Given the description of an element on the screen output the (x, y) to click on. 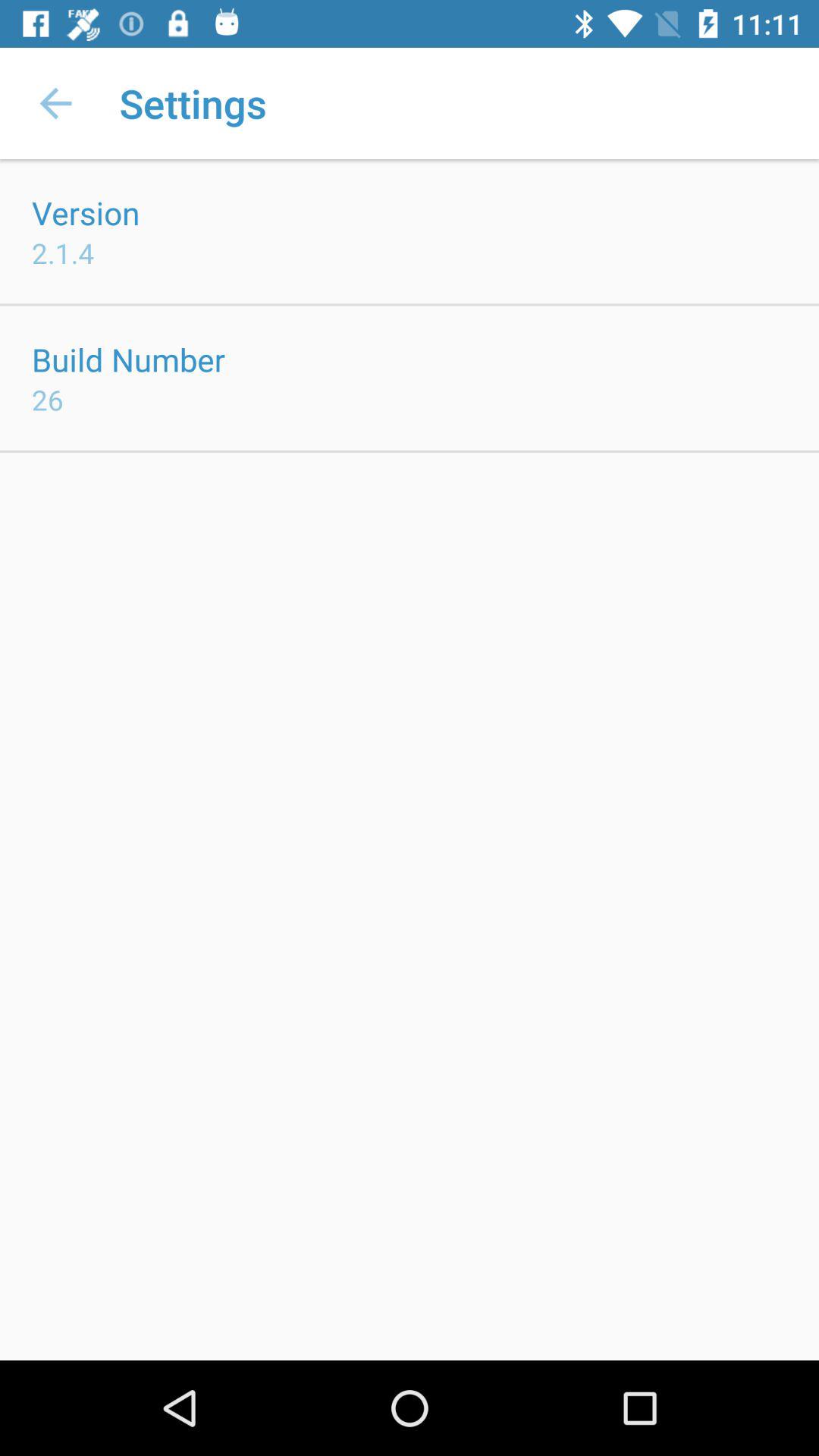
select the item below the version icon (62, 252)
